Given the description of an element on the screen output the (x, y) to click on. 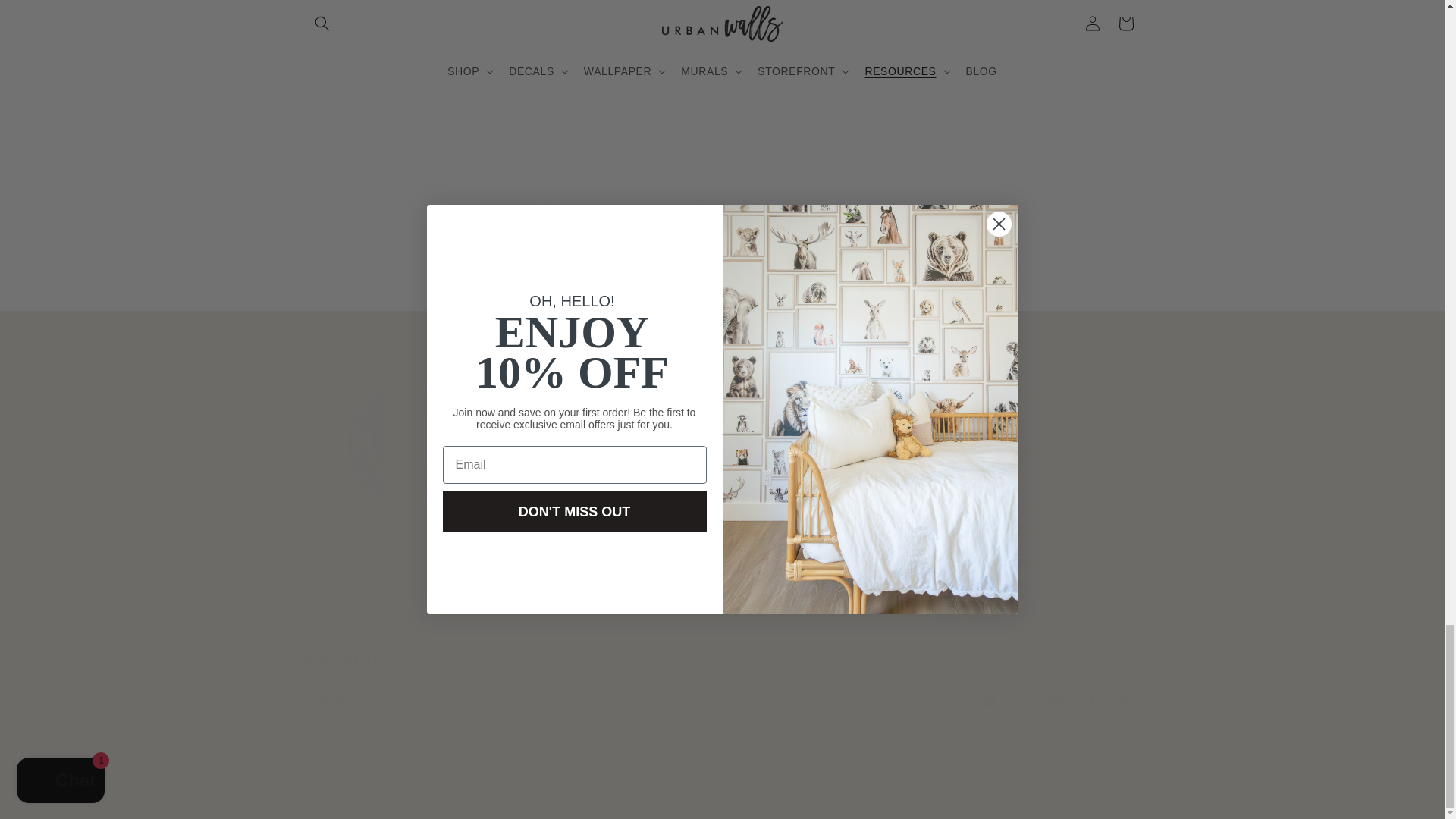
Contact (1016, 517)
